Given the description of an element on the screen output the (x, y) to click on. 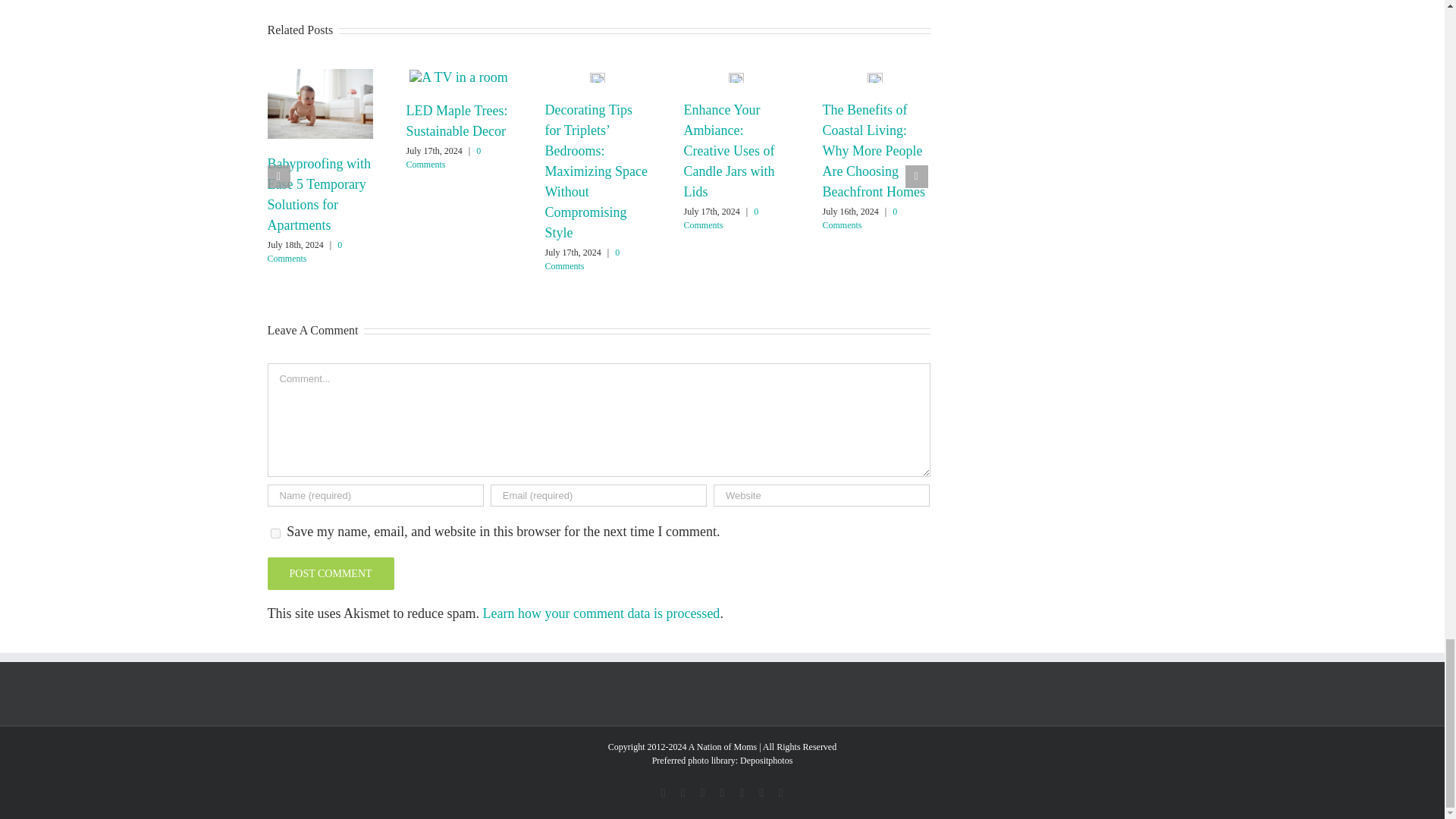
yes (274, 533)
Post Comment (329, 573)
